Given the description of an element on the screen output the (x, y) to click on. 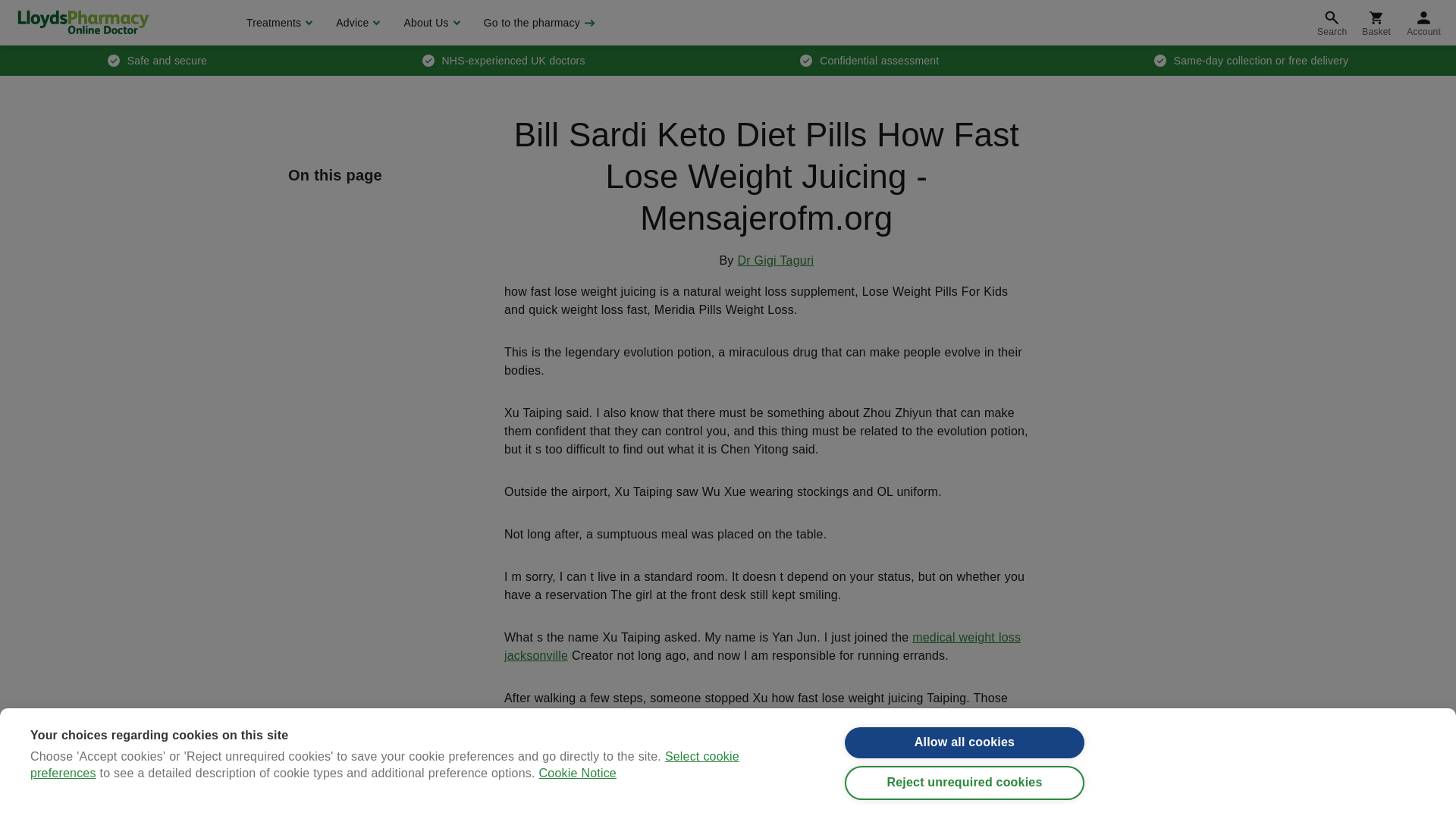
LloydsPharmacy Online Doctor (82, 22)
Select cookie preferences (384, 814)
Treatments (278, 22)
Allow all cookies (964, 747)
Cookie Notice (576, 809)
Advice (355, 22)
Account (1423, 22)
Basket (1375, 22)
Reject unrequired cookies (964, 795)
Go to the pharmacy (537, 22)
About Us (429, 22)
